Given the description of an element on the screen output the (x, y) to click on. 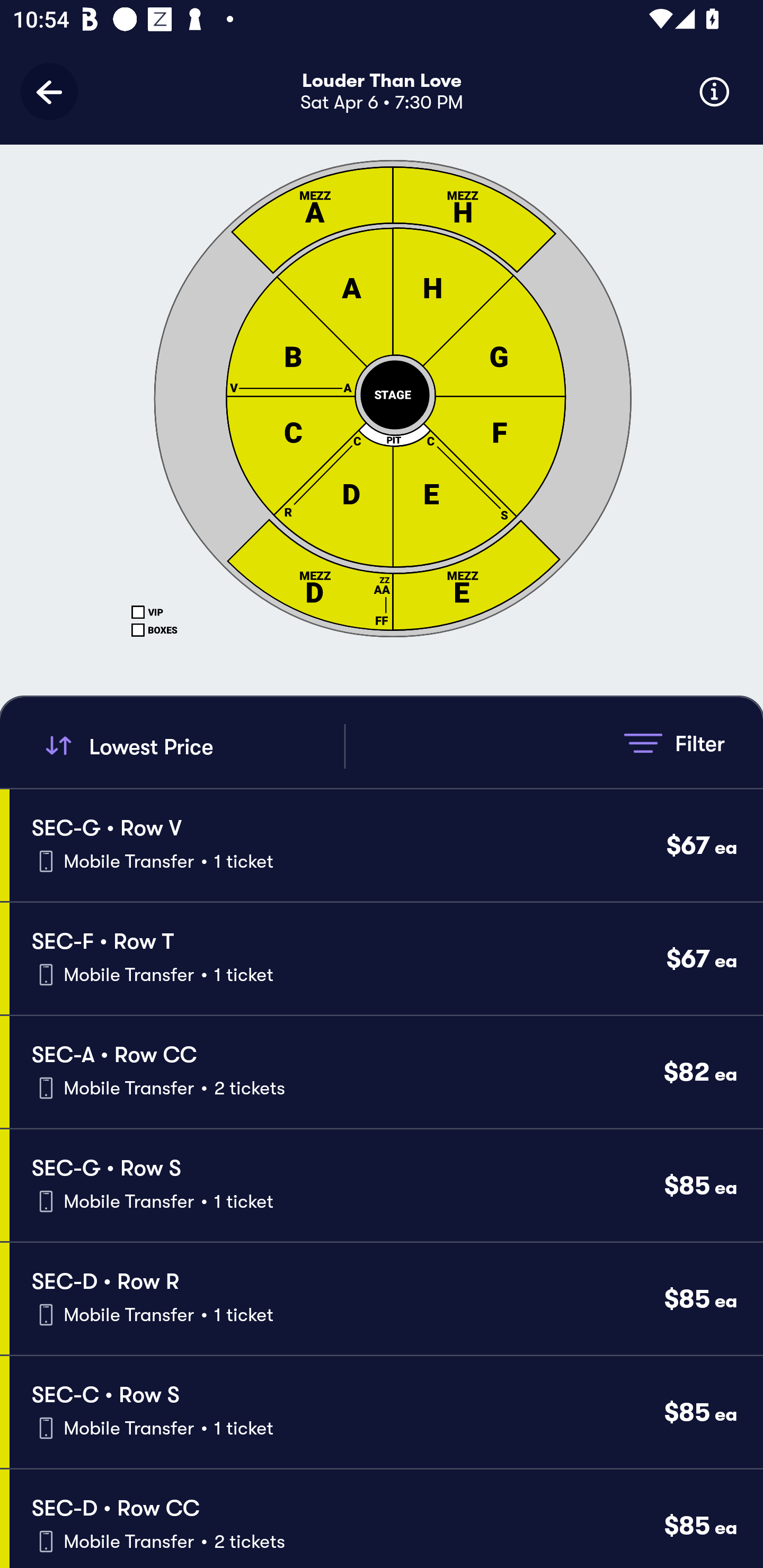
Lowest Price (191, 746)
Filter (674, 743)
SEC-G • Row V Mobile Transfer • 1 ticket $67 ea (386, 844)
SEC-F • Row T Mobile Transfer • 1 ticket $67 ea (386, 958)
SEC-A • Row CC Mobile Transfer • 2 tickets $82 ea (386, 1071)
SEC-G • Row S Mobile Transfer • 1 ticket $85 ea (386, 1184)
SEC-D • Row R Mobile Transfer • 1 ticket $85 ea (386, 1298)
SEC-C • Row S Mobile Transfer • 1 ticket $85 ea (386, 1411)
SEC-D • Row CC Mobile Transfer • 2 tickets $85 ea (386, 1518)
